Given the description of an element on the screen output the (x, y) to click on. 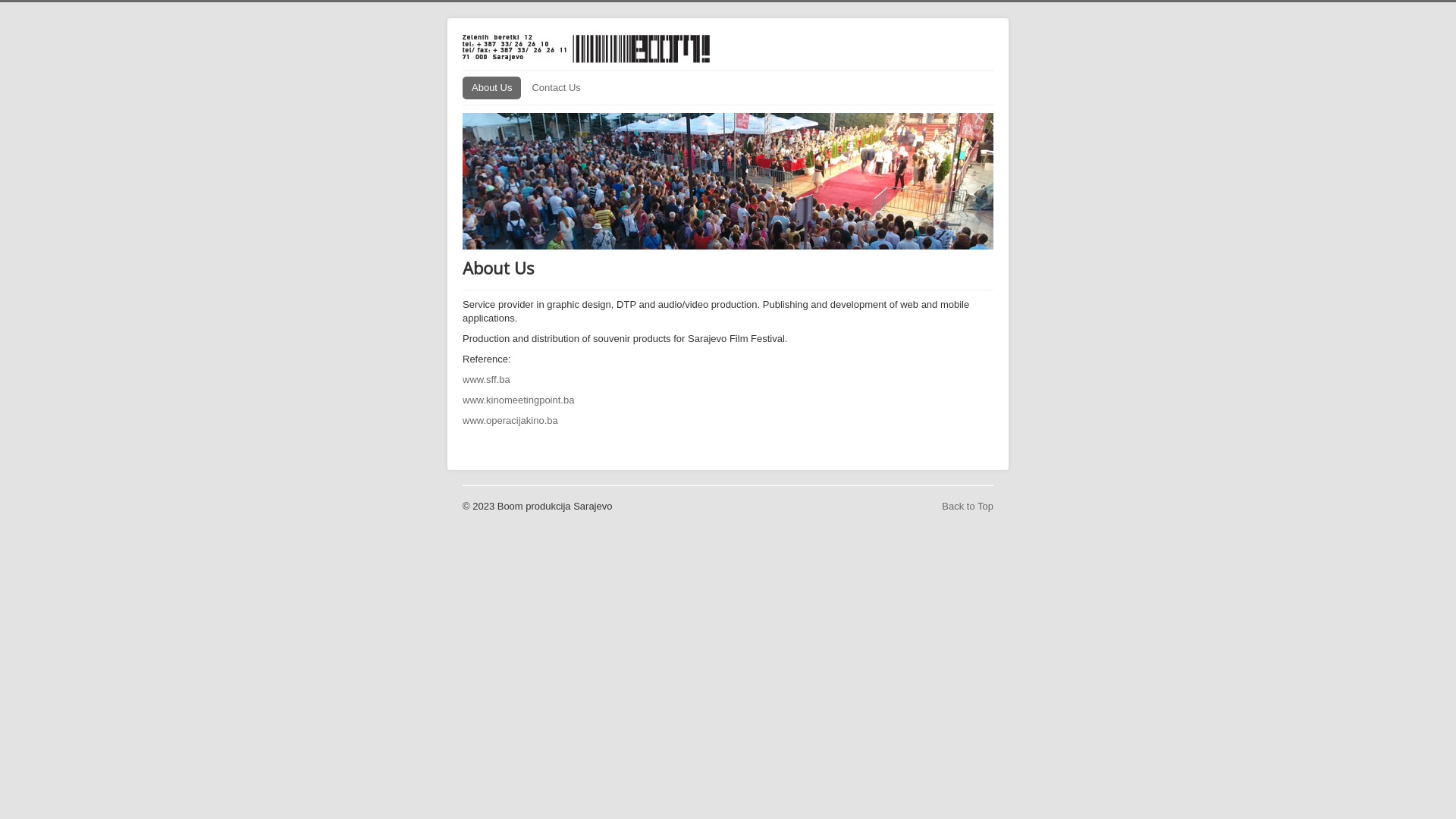
www.kinomeetingpoint.ba Element type: text (518, 399)
Contact Us Element type: text (555, 87)
www.sff.ba Element type: text (486, 379)
About Us Element type: text (491, 87)
Back to Top Element type: text (967, 505)
www.operacijakino.ba Element type: text (510, 420)
